Given the description of an element on the screen output the (x, y) to click on. 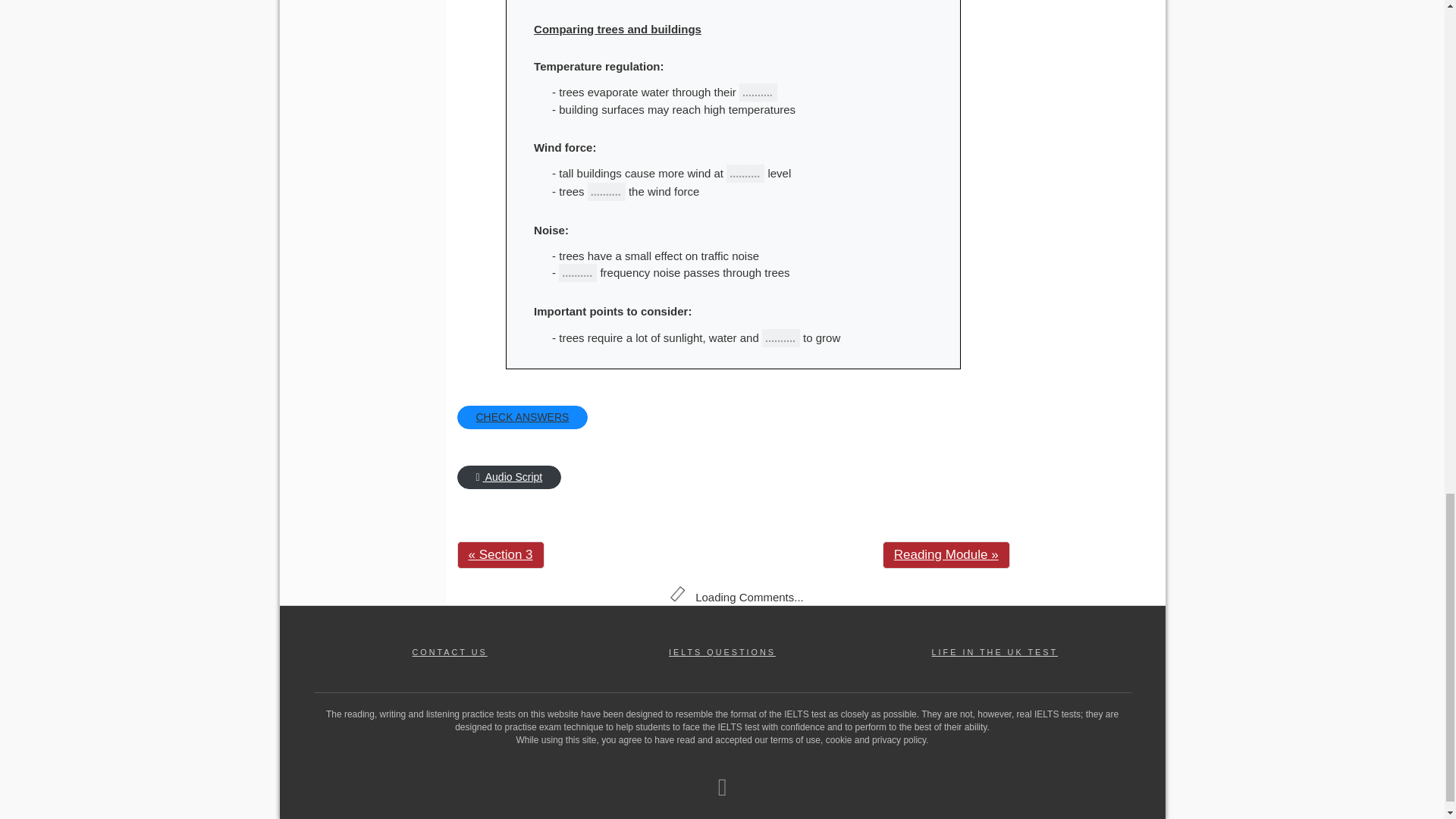
Audio Script (508, 477)
CHECK ANSWERS (522, 417)
